Given the description of an element on the screen output the (x, y) to click on. 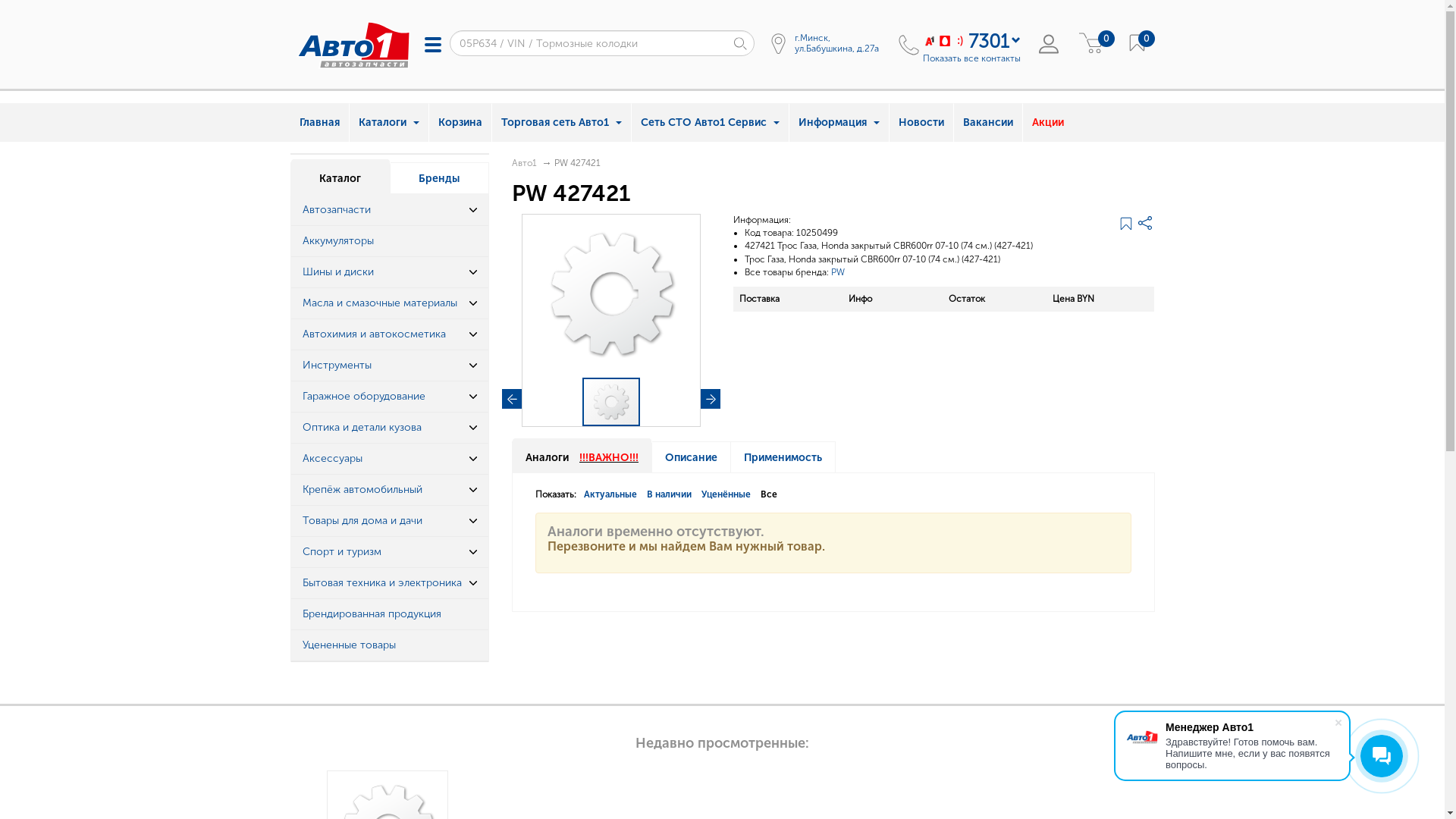
7301 Element type: text (987, 41)
PW Element type: text (837, 271)
Toggle navigation Element type: text (432, 44)
